Given the description of an element on the screen output the (x, y) to click on. 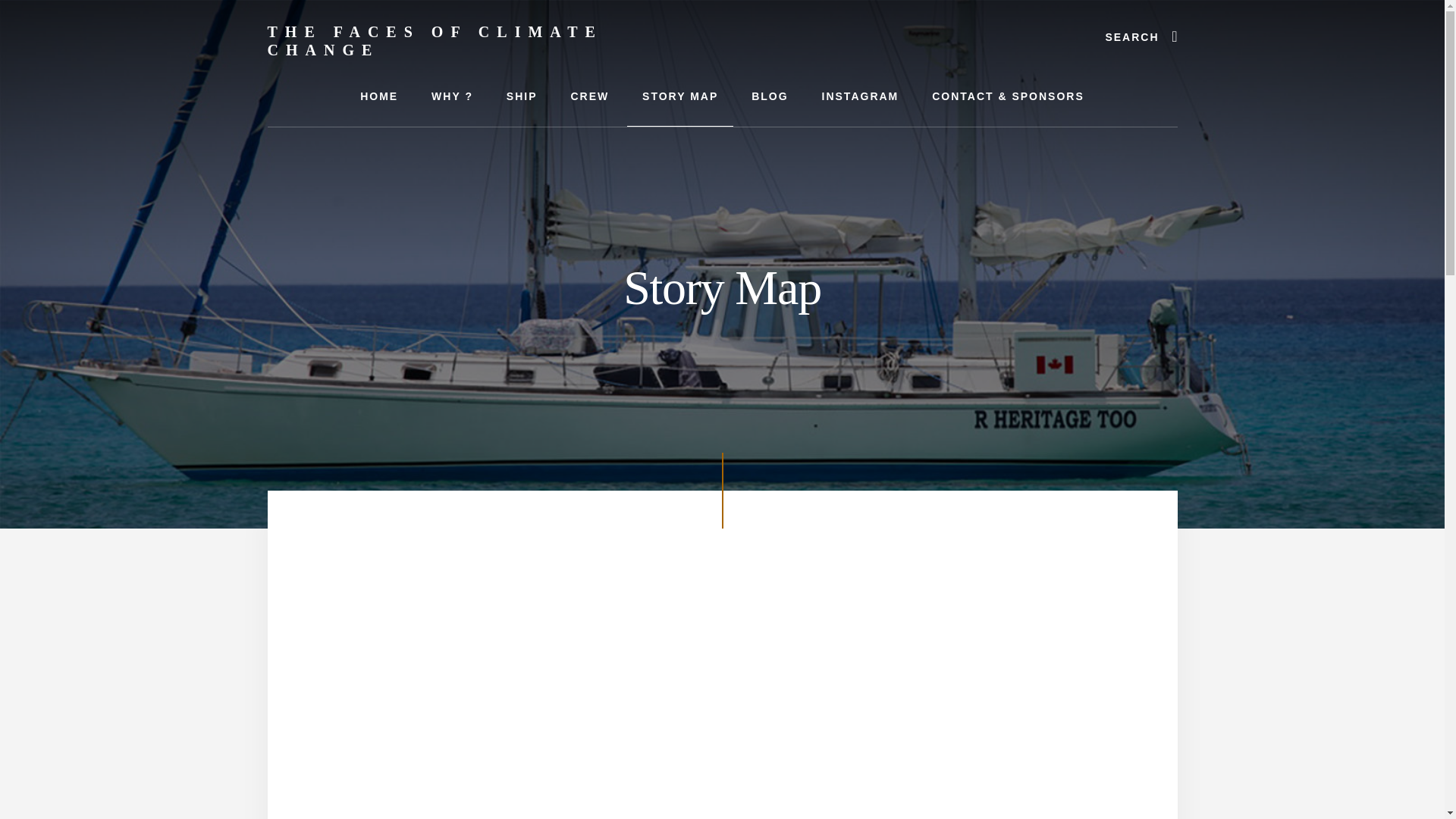
BLOG (769, 96)
THE FACES OF CLIMATE CHANGE (434, 40)
STORY MAP (680, 96)
HOME (379, 96)
SHIP (522, 96)
CREW (589, 96)
WHY ? (451, 96)
INSTAGRAM (860, 96)
